Given the description of an element on the screen output the (x, y) to click on. 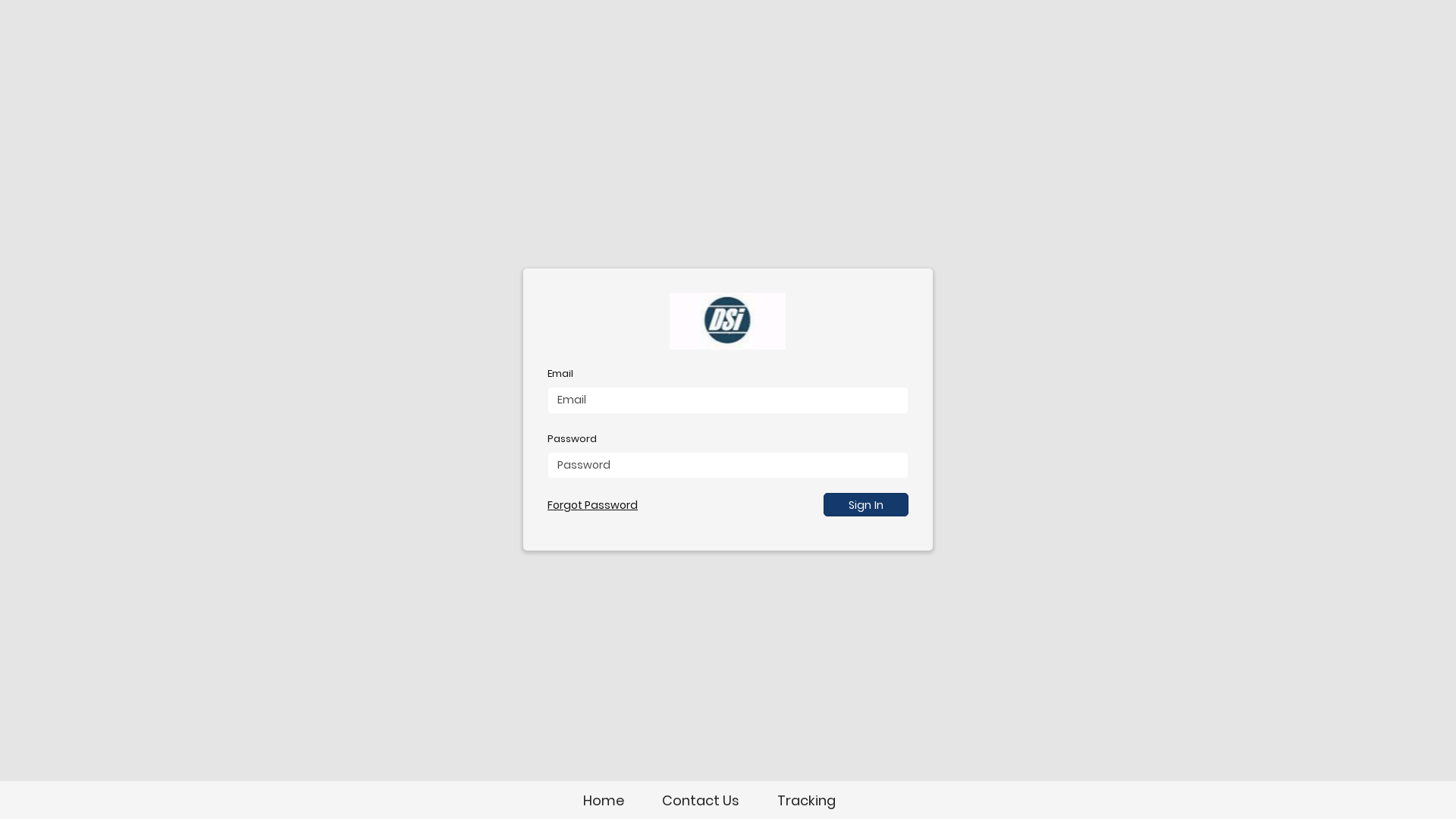
Contact Us Element type: text (699, 799)
Tracking Element type: text (805, 799)
Forgot Password Element type: text (592, 504)
Home Element type: text (602, 799)
Sign In Element type: text (865, 504)
